Given the description of an element on the screen output the (x, y) to click on. 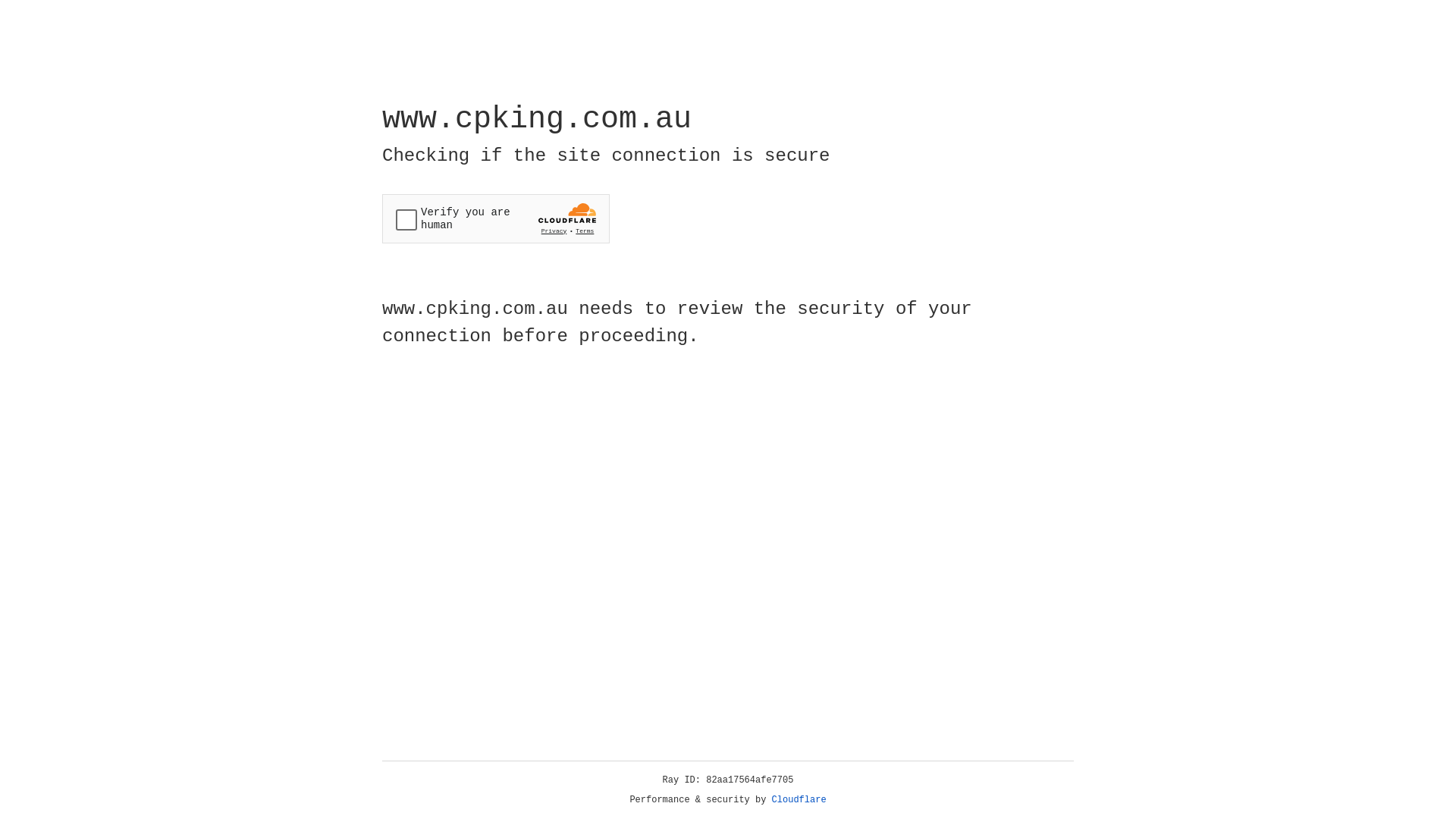
Widget containing a Cloudflare security challenge Element type: hover (495, 218)
Cloudflare Element type: text (798, 799)
